Given the description of an element on the screen output the (x, y) to click on. 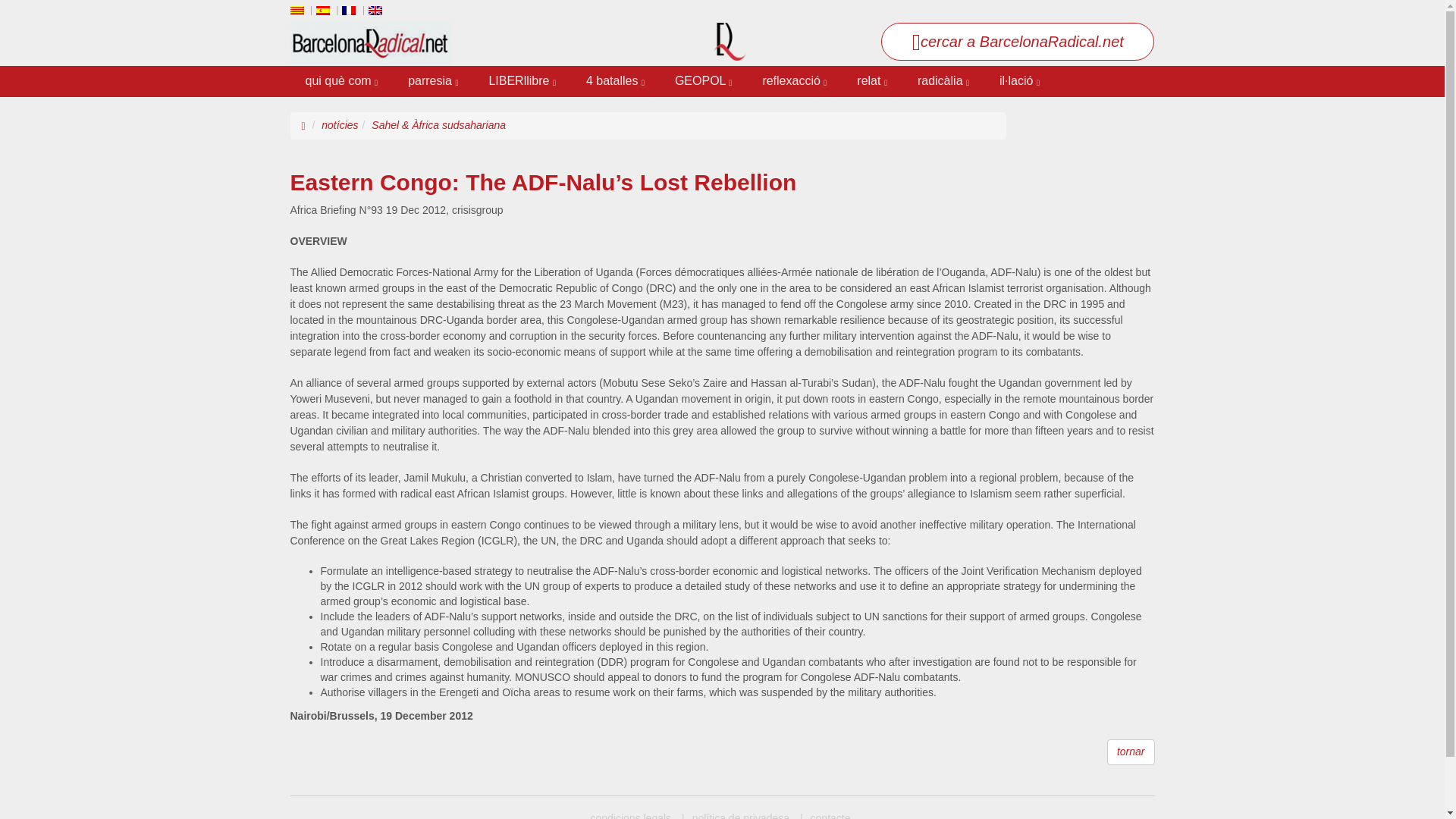
cercar a BarcelonaRadical.net (1017, 41)
BARCELONA RADICAL (630, 815)
relat (871, 81)
4 batalles (614, 81)
LIBERllibre (521, 81)
GEOPOL (702, 81)
parresia (433, 81)
contacto (824, 815)
